Given the description of an element on the screen output the (x, y) to click on. 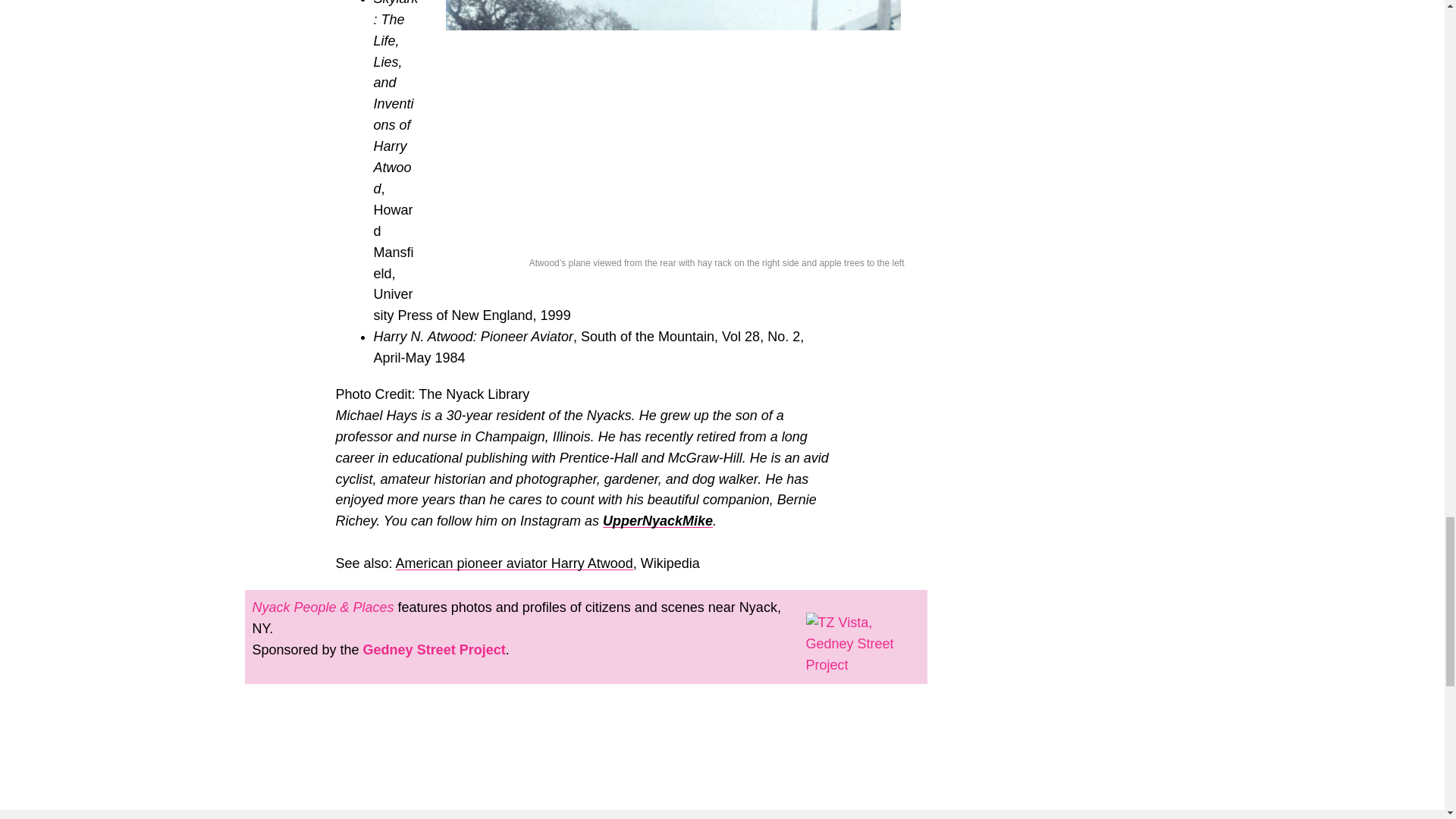
American pioneer aviator (471, 563)
 Harry Atwood (590, 563)
UpperNyackMike (657, 520)
